Given the description of an element on the screen output the (x, y) to click on. 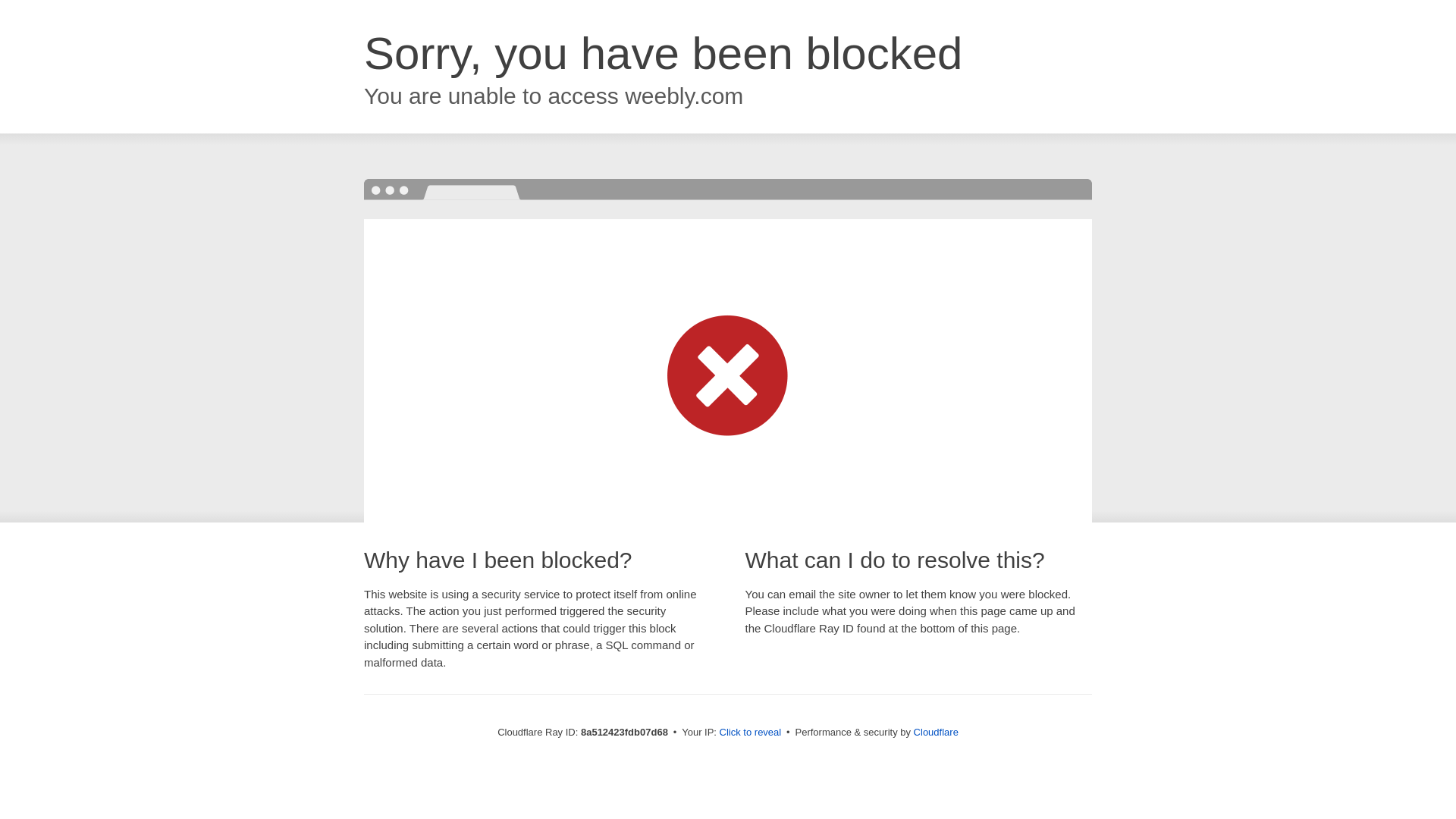
Cloudflare (936, 731)
Click to reveal (750, 732)
